Given the description of an element on the screen output the (x, y) to click on. 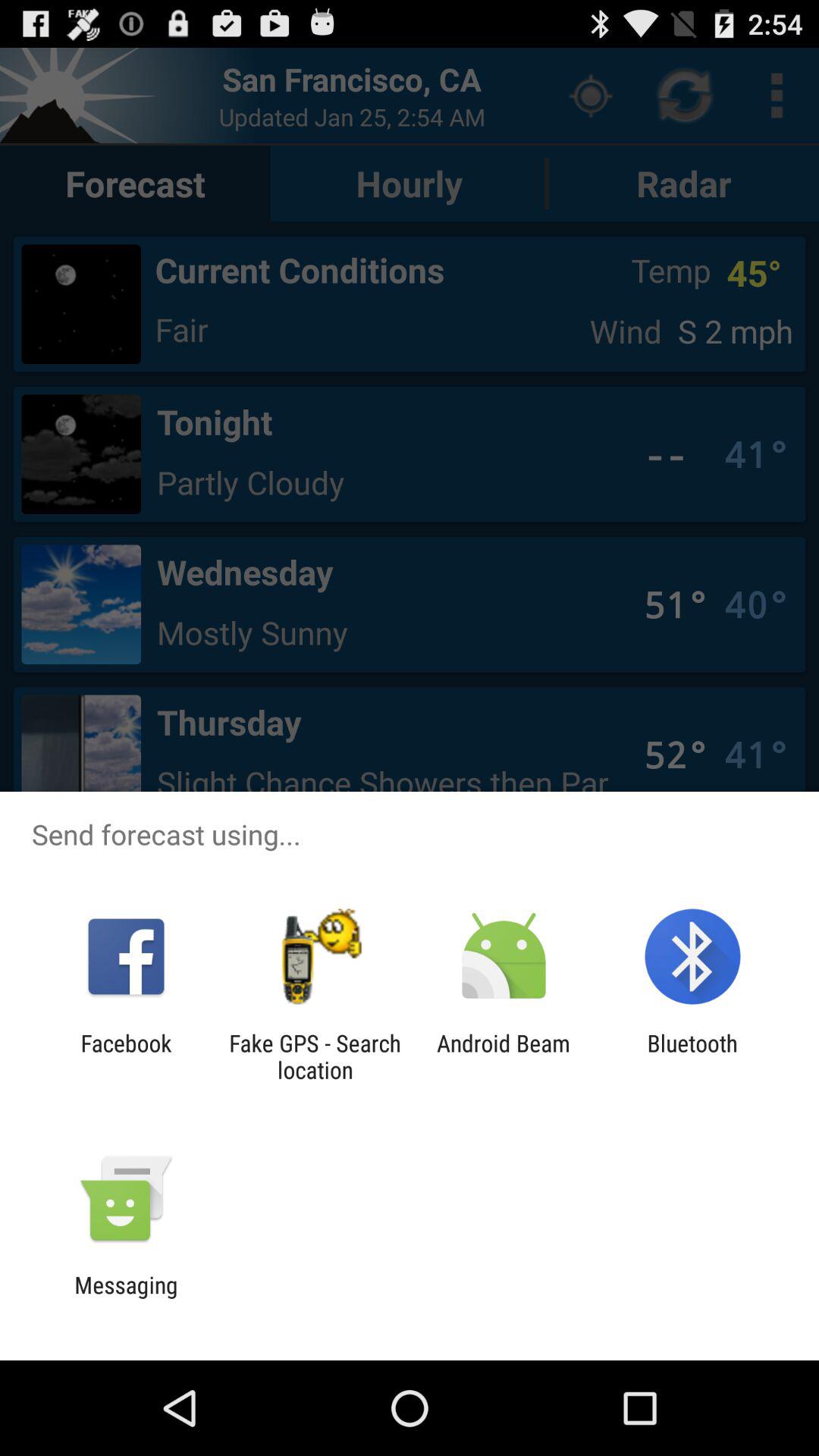
press the app next to the android beam app (314, 1056)
